Given the description of an element on the screen output the (x, y) to click on. 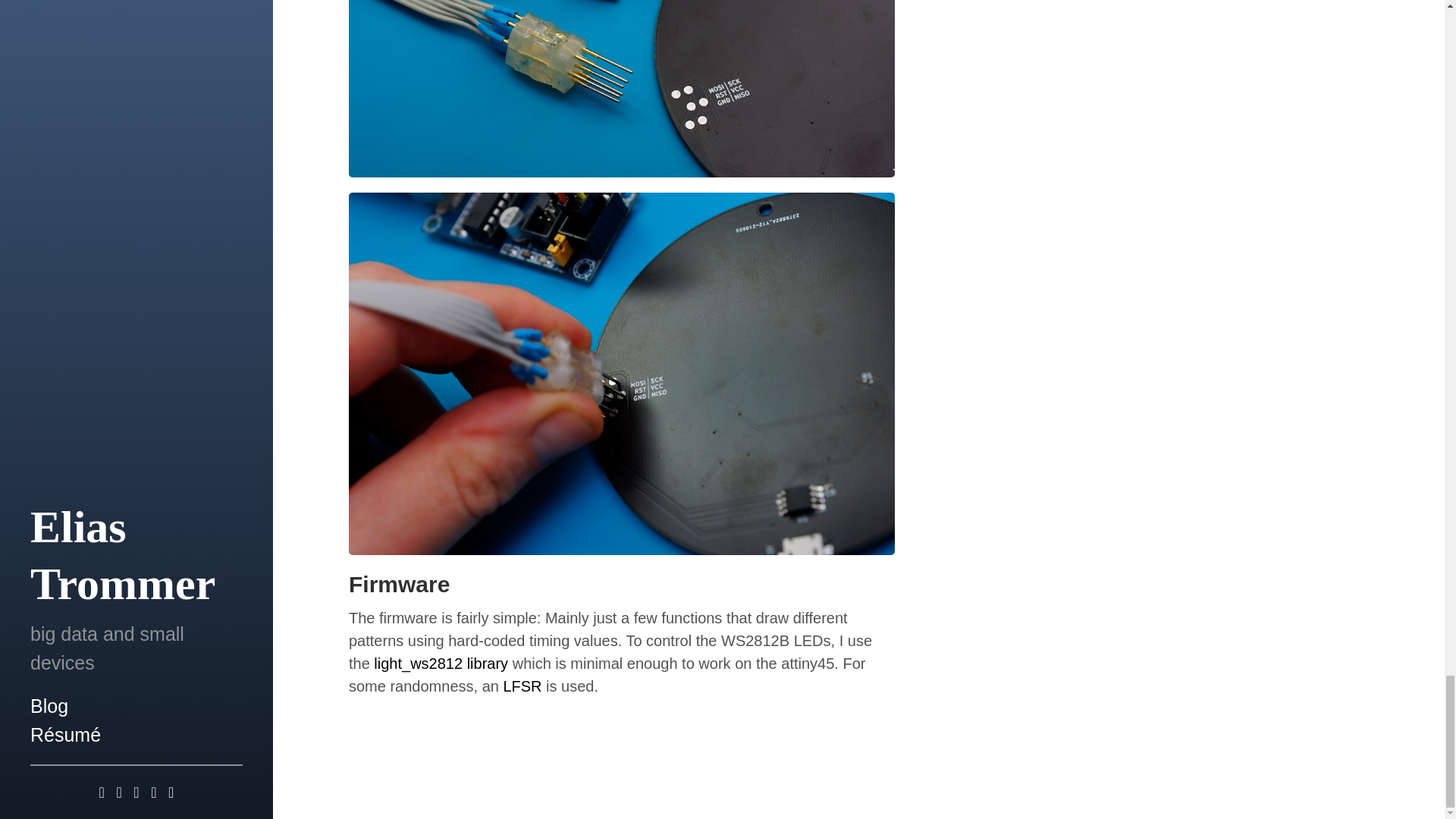
LFSR (521, 686)
